Given the description of an element on the screen output the (x, y) to click on. 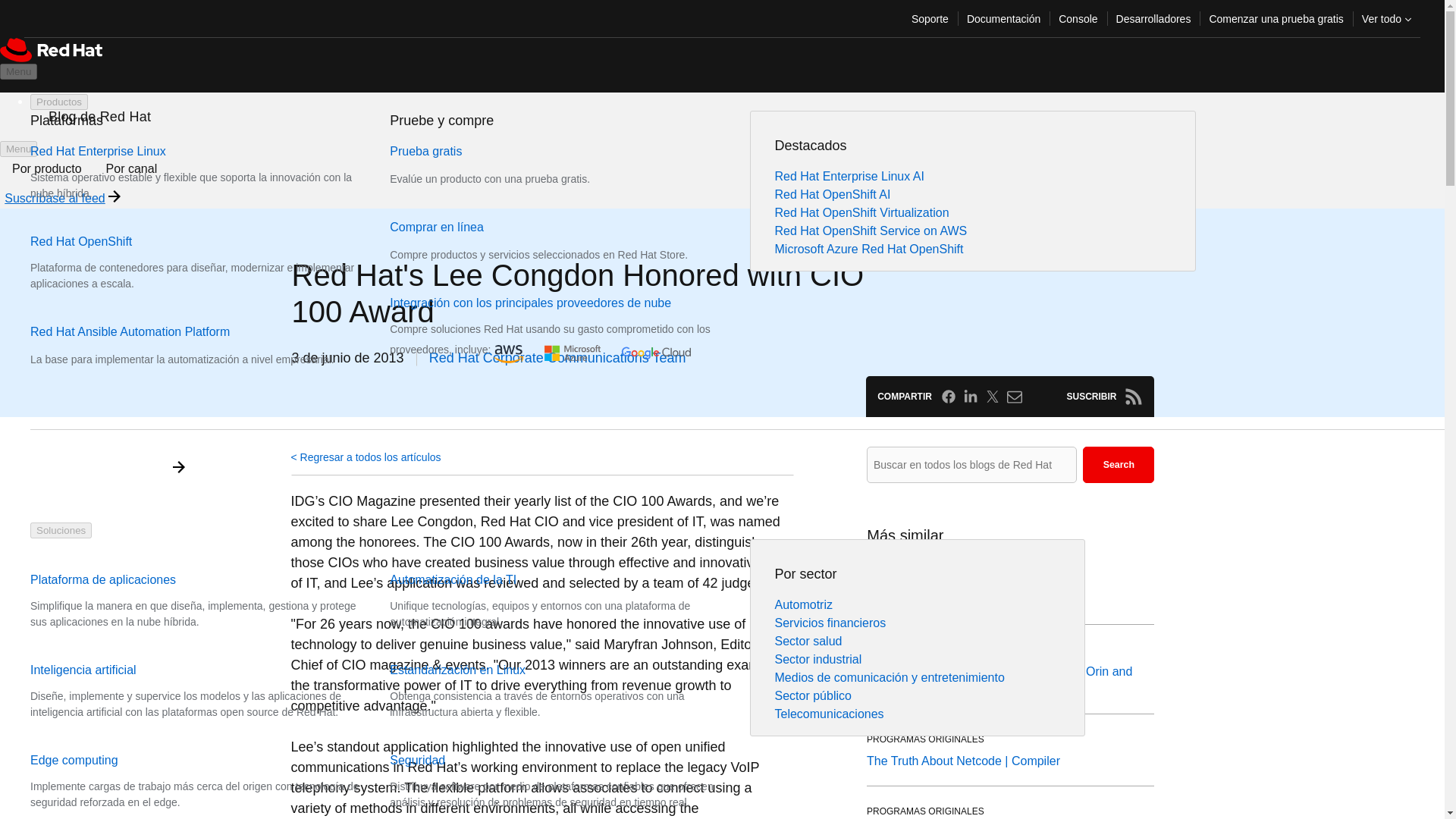
Comenzar una prueba gratis (1275, 18)
Desarrolladores (1152, 18)
Console (1077, 18)
See more by Red Hat Corporate Communications Team (557, 357)
Soporte (930, 18)
Ver todo (1386, 18)
Suscribir (1132, 396)
